Given the description of an element on the screen output the (x, y) to click on. 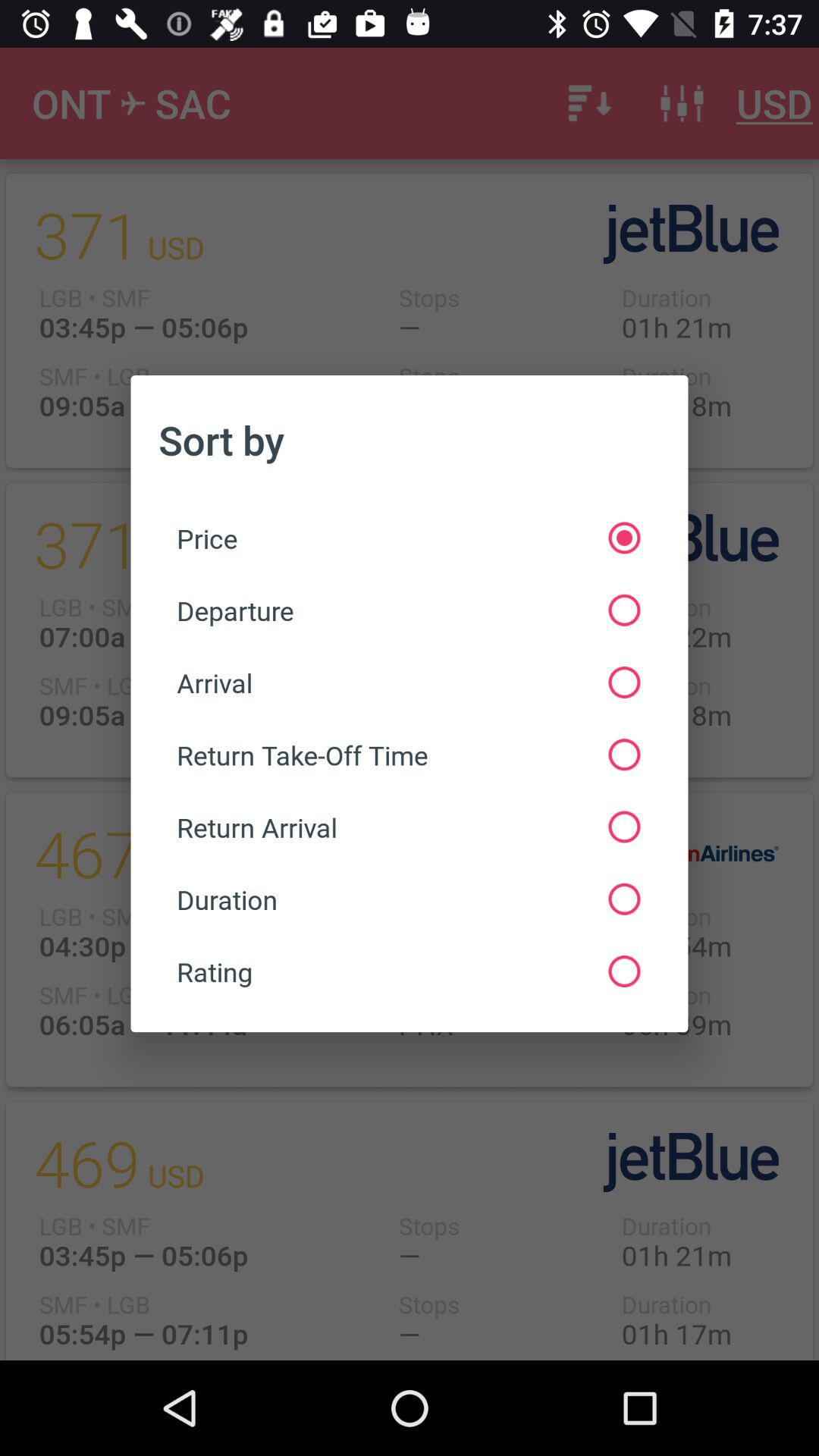
launch the icon below the return take off icon (408, 827)
